Given the description of an element on the screen output the (x, y) to click on. 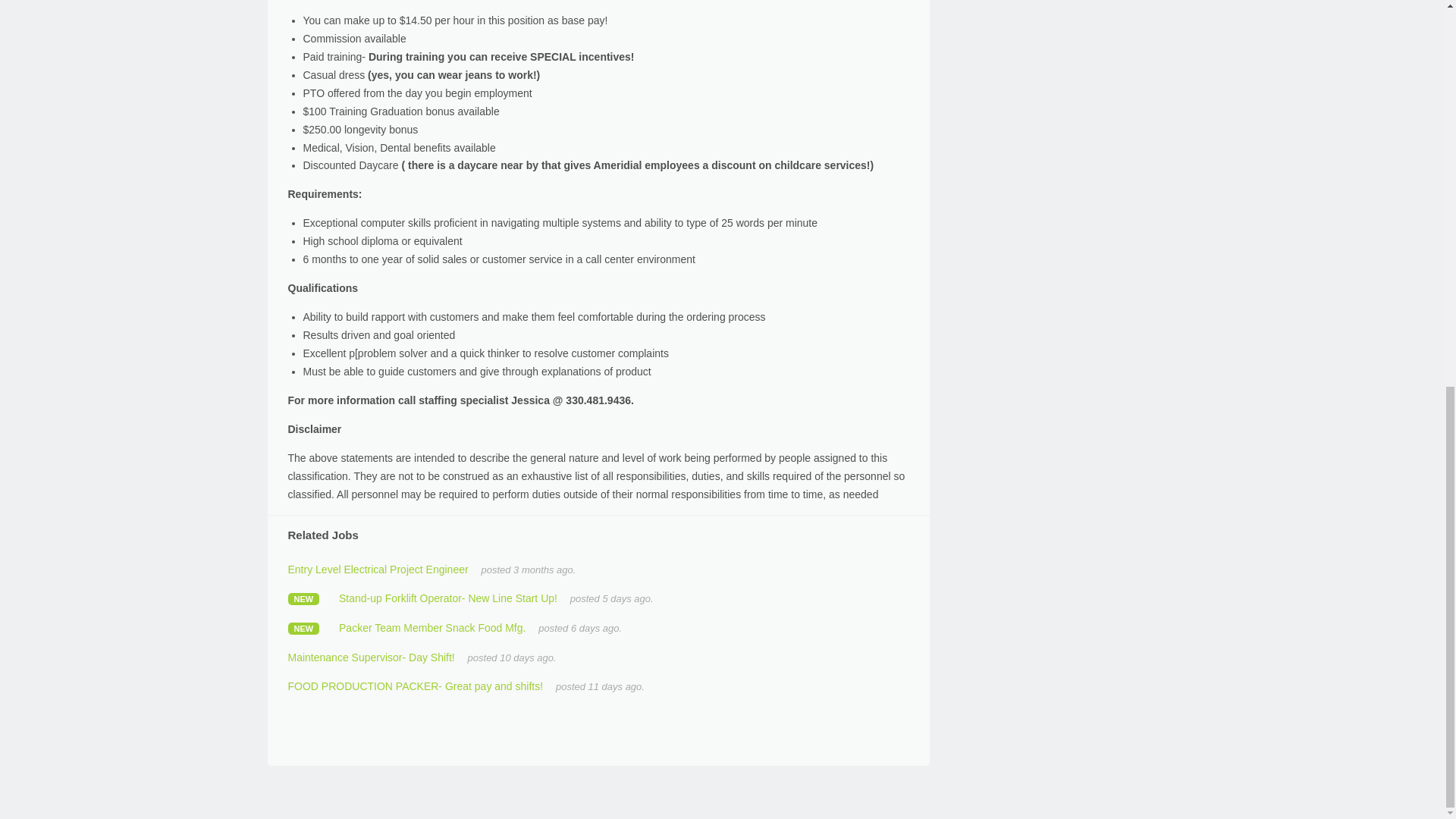
Stand-up Forklift Operator- New Line Start Up! (448, 598)
Entry Level Electrical Project Engineer (378, 569)
Maintenance Supervisor- Day Shift! (373, 657)
Packer Team Member Snack Food Mfg. (432, 627)
FOOD PRODUCTION PACKER- Great pay and shifts! (417, 686)
